Given the description of an element on the screen output the (x, y) to click on. 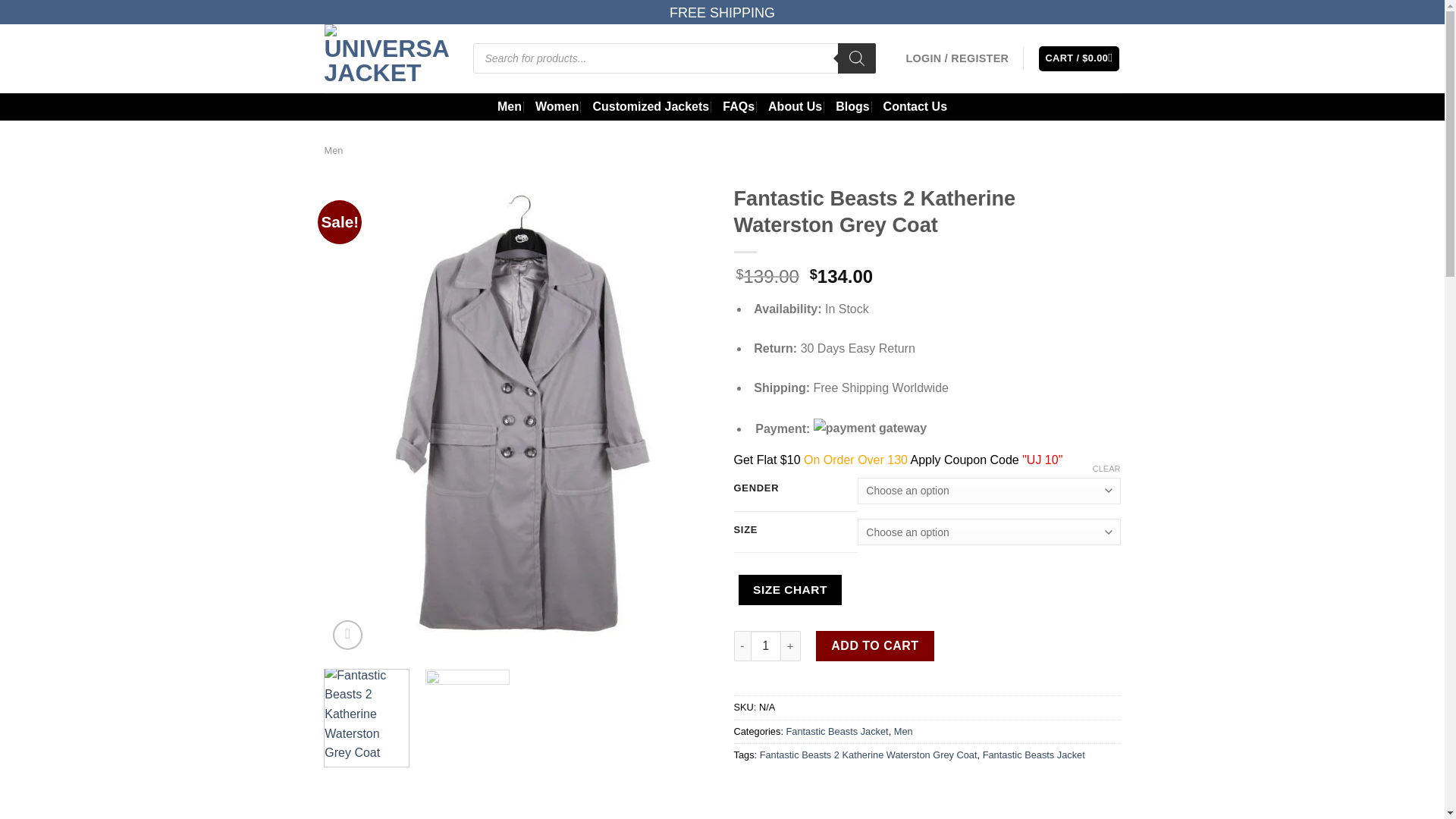
Fantastic Beasts Jacket (1033, 754)
Customized Jackets (650, 106)
Fantastic Beasts Jacket (837, 731)
Zoom (347, 634)
FAQs (738, 106)
Qty (765, 645)
Men (902, 731)
Fantastic Beasts 2 Katherine Waterston Grey Coat (868, 754)
About Us (795, 106)
1 (765, 645)
SIZE CHART (790, 589)
Cart (1079, 58)
ADD TO CART (874, 645)
CLEAR (1107, 468)
Men (333, 150)
